Given the description of an element on the screen output the (x, y) to click on. 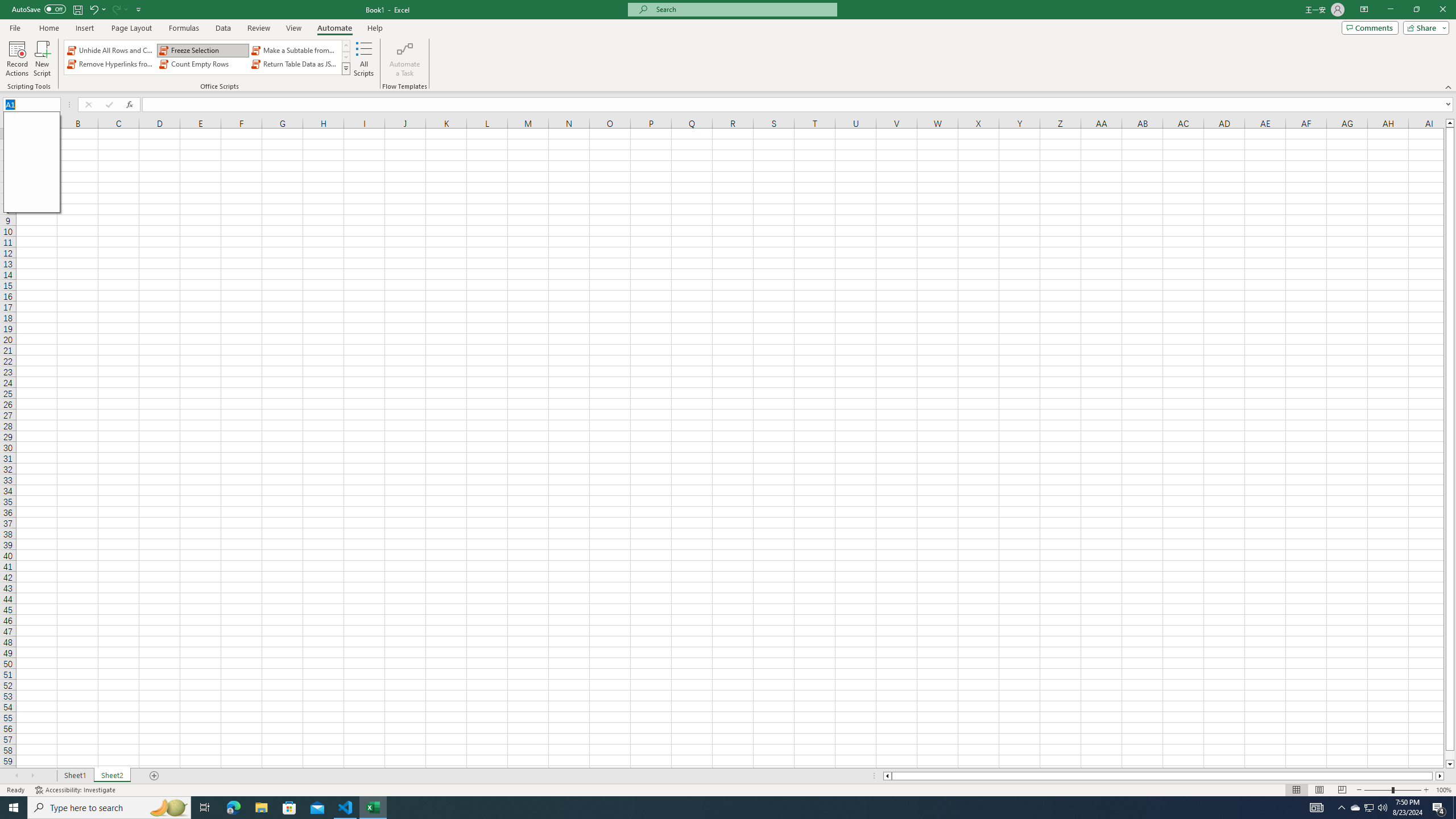
Accessibility Checker Accessibility: Investigate (76, 790)
Freeze Selection (202, 50)
Office Scripts (346, 68)
AutomationID: OfficeScriptsGallery (207, 57)
Remove Hyperlinks from Sheet (111, 64)
